Given the description of an element on the screen output the (x, y) to click on. 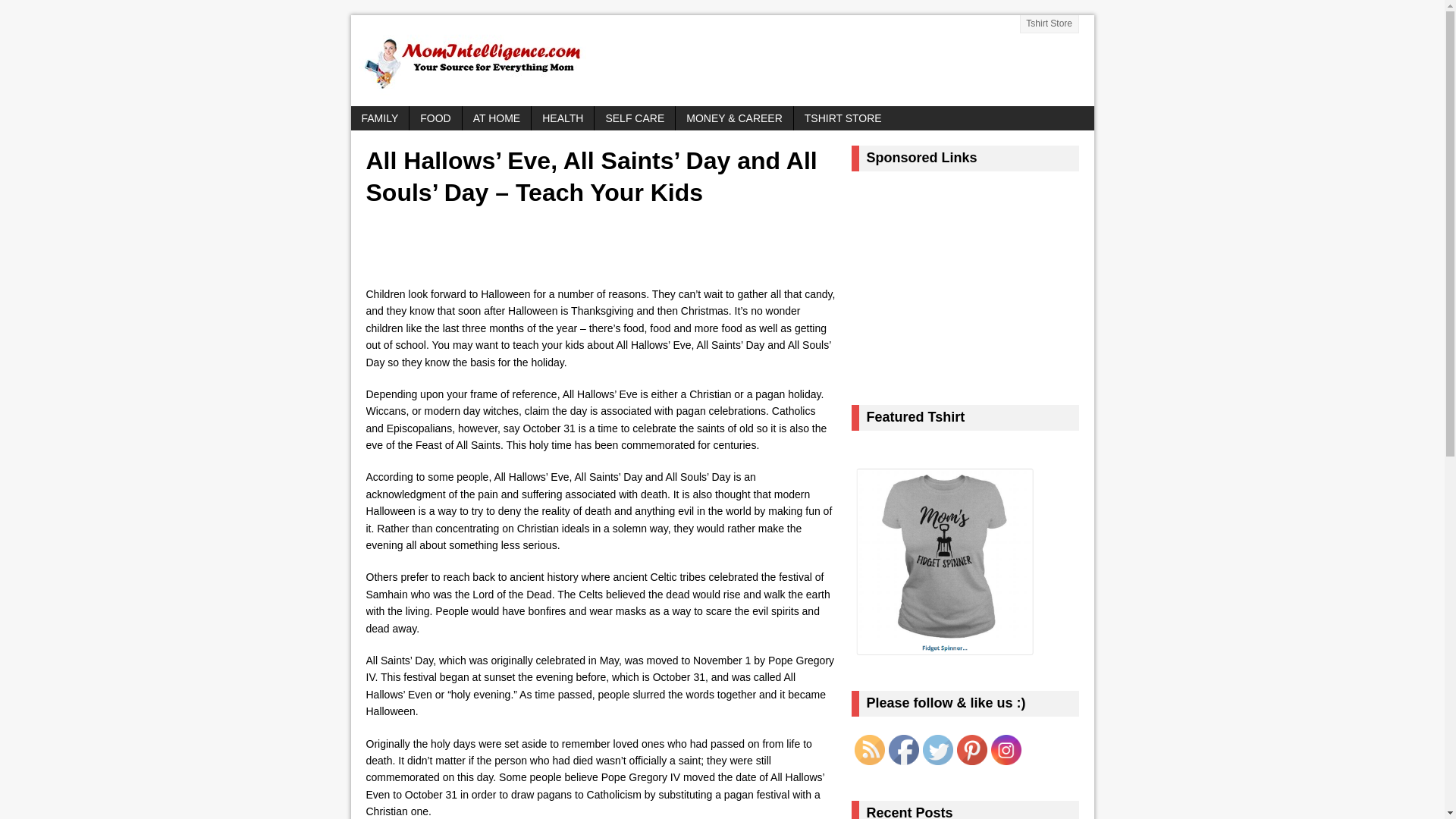
FOOD (435, 118)
FAMILY (379, 118)
Pinterest (971, 749)
AT HOME (497, 118)
RSS (868, 749)
Advertisement (551, 248)
Instagram (1005, 749)
Twitter (936, 749)
HEALTH (562, 118)
Tips, Recipes and Sanity for Moms (721, 60)
Advertisement (973, 280)
SELF CARE (634, 118)
Facebook (903, 749)
Tshirt Store (1049, 23)
TSHIRT STORE (842, 118)
